Given the description of an element on the screen output the (x, y) to click on. 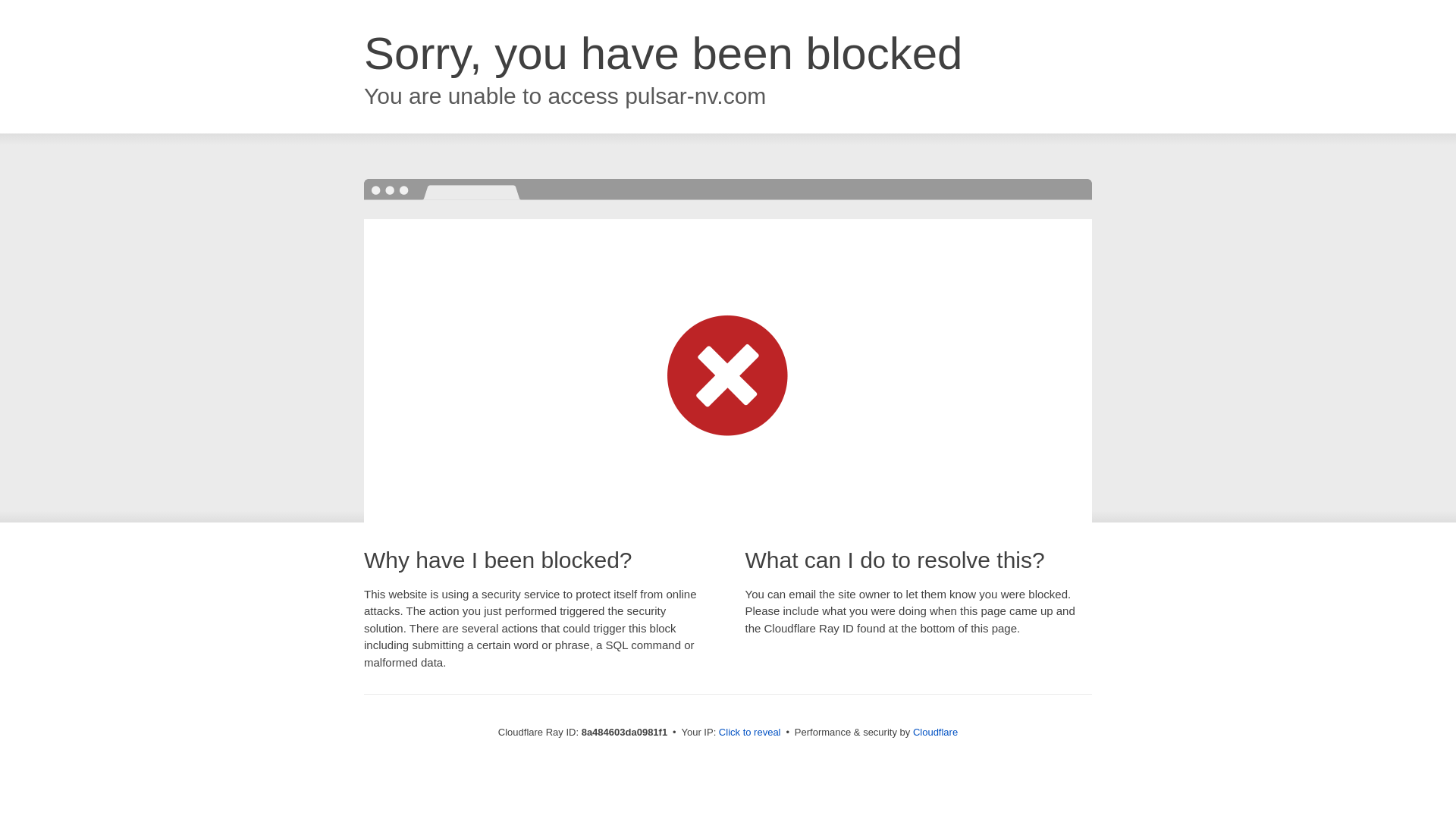
Click to reveal (749, 732)
Cloudflare (935, 731)
